Given the description of an element on the screen output the (x, y) to click on. 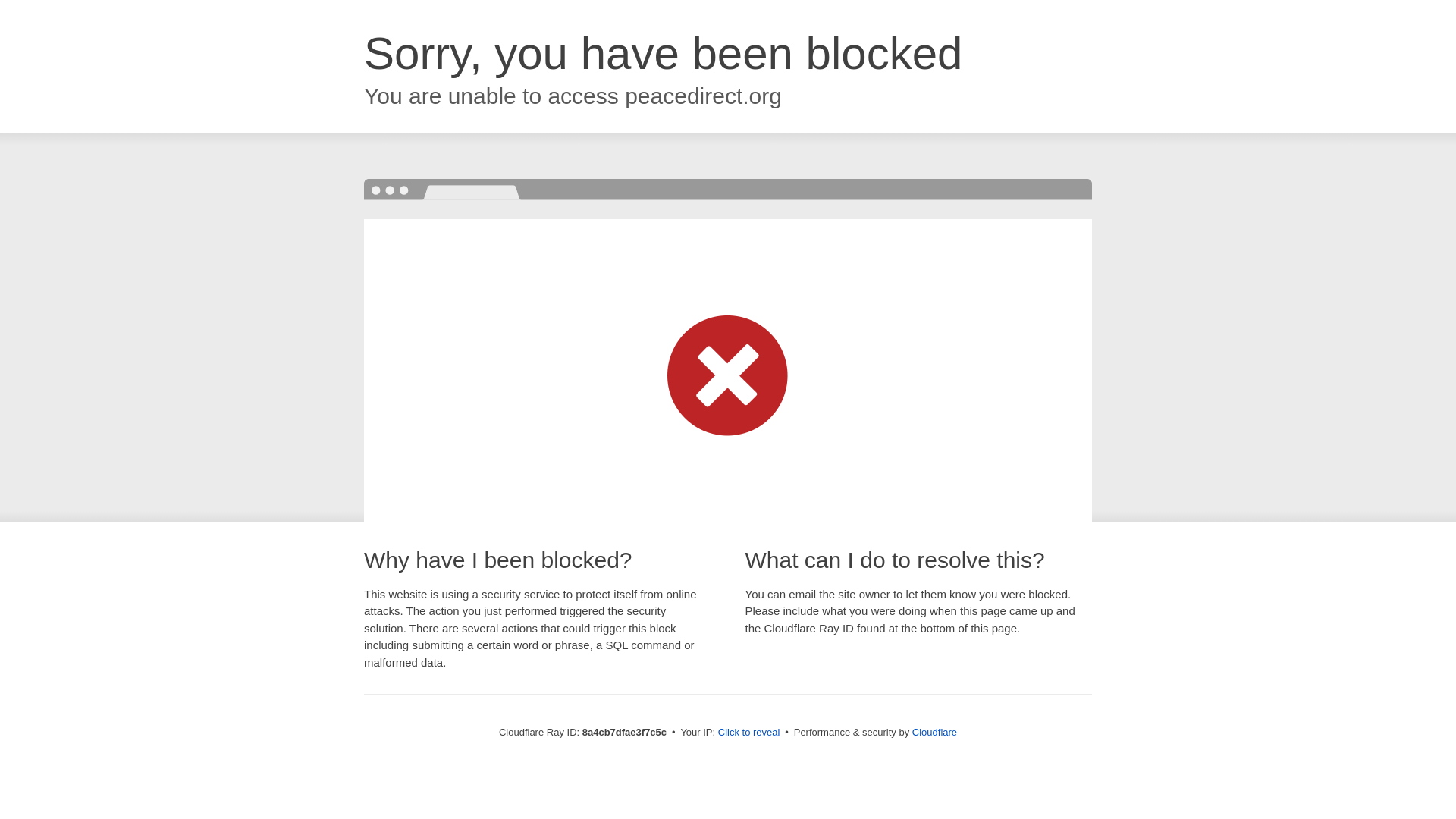
Click to reveal (748, 732)
Cloudflare (934, 731)
